Given the description of an element on the screen output the (x, y) to click on. 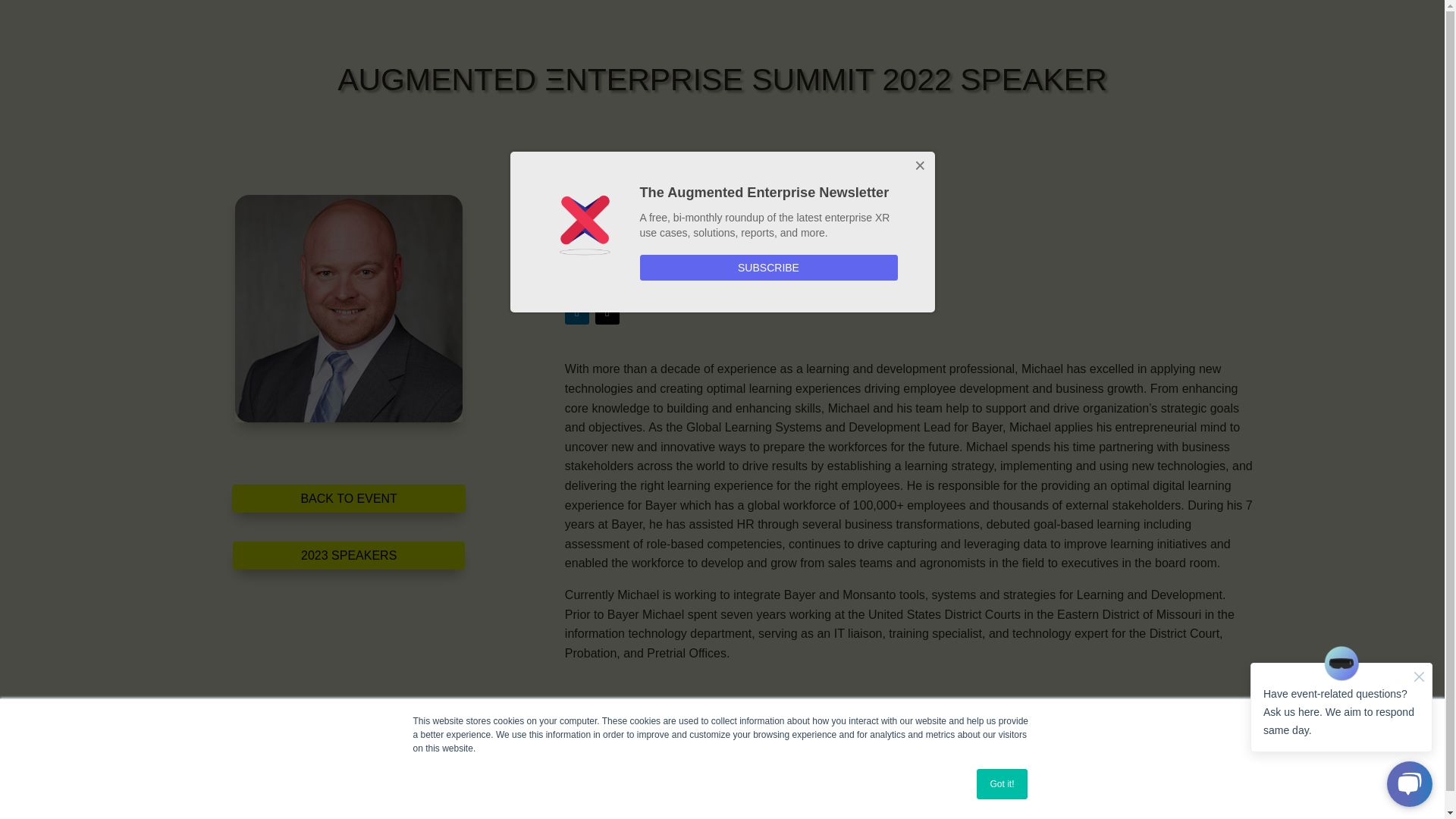
ALLISON YANITES AES 2022 (348, 308)
SUBSCRIBE (769, 267)
Follow on LinkedIn (576, 312)
Follow on X (607, 312)
Code of Conduct (540, 800)
2023 SPEAKERS (348, 555)
Antitrust Policy (889, 800)
Got it! (1001, 784)
Produced by BrainXchange (391, 800)
BACK TO EVENT (347, 498)
Newsletter Sign-up (1010, 800)
Privacy Policy (649, 800)
